Given the description of an element on the screen output the (x, y) to click on. 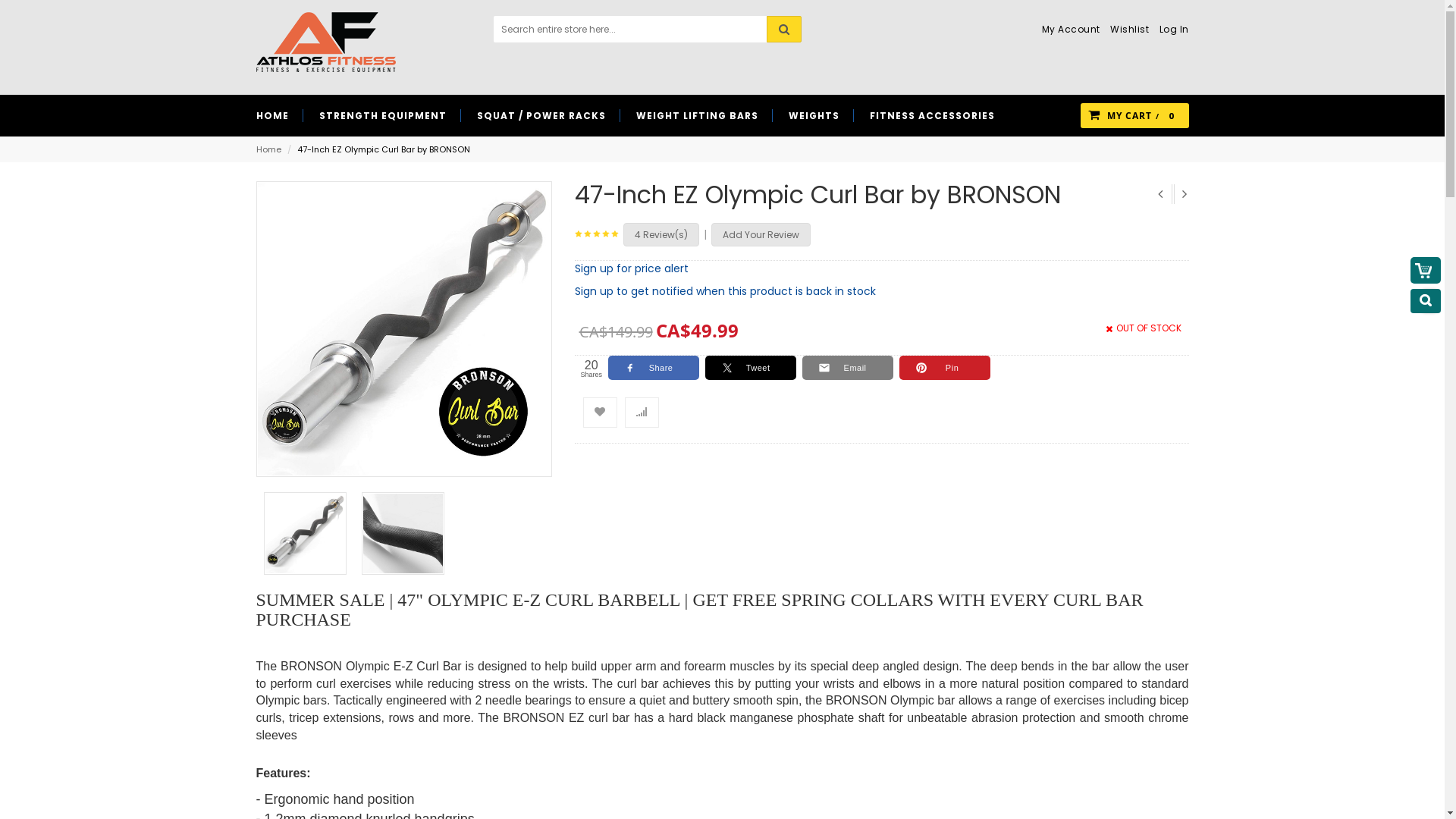
Sign up for price alert Element type: text (631, 268)
WEIGHT LIFTING BARS Element type: text (696, 115)
Home Element type: text (268, 149)
BRONSON curl bar Element type: hover (404, 328)
Add To Wishlist Element type: hover (599, 412)
Add To Compare Element type: hover (641, 412)
MY CART 0 Element type: text (1133, 115)
Previous Element type: hover (1159, 193)
HOME Element type: text (279, 115)
4 Review(s) Element type: text (661, 234)
Search Element type: hover (782, 28)
FITNESS ACCESSORIES Element type: text (931, 115)
Add Your Review Element type: text (760, 234)
Next Element type: hover (1181, 193)
My Account Element type: text (1067, 29)
WEIGHTS Element type: text (814, 115)
Log In Element type: text (1169, 29)
SQUAT / POWER RACKS Element type: text (540, 115)
STRENGTH EQUIPMENT Element type: text (382, 115)
Sign up to get notified when this product is back in stock Element type: text (724, 290)
Wishlist Element type: text (1125, 29)
Athlos Fitness Element type: hover (325, 42)
